Given the description of an element on the screen output the (x, y) to click on. 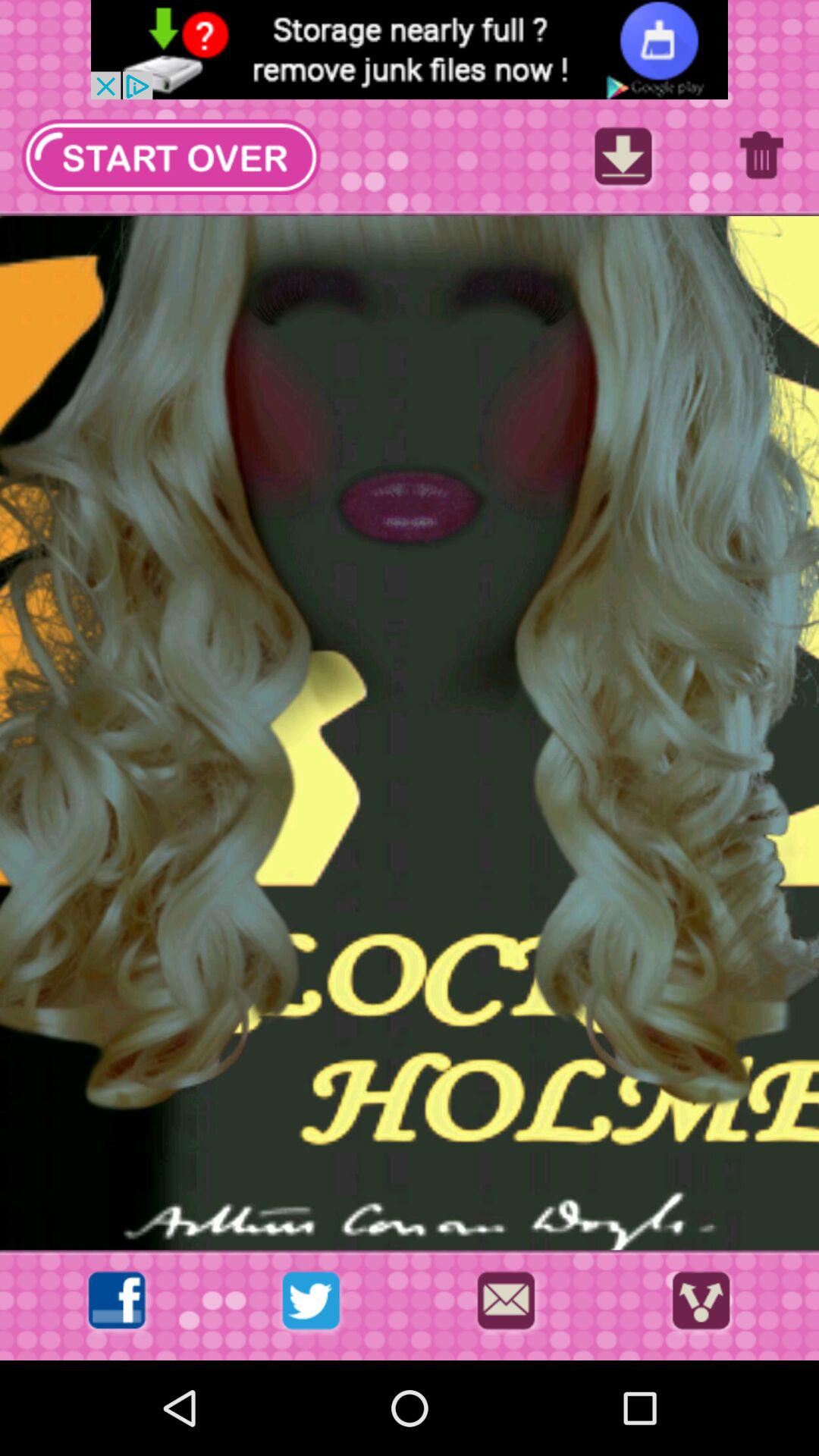
view the advertisement at top (409, 49)
